Given the description of an element on the screen output the (x, y) to click on. 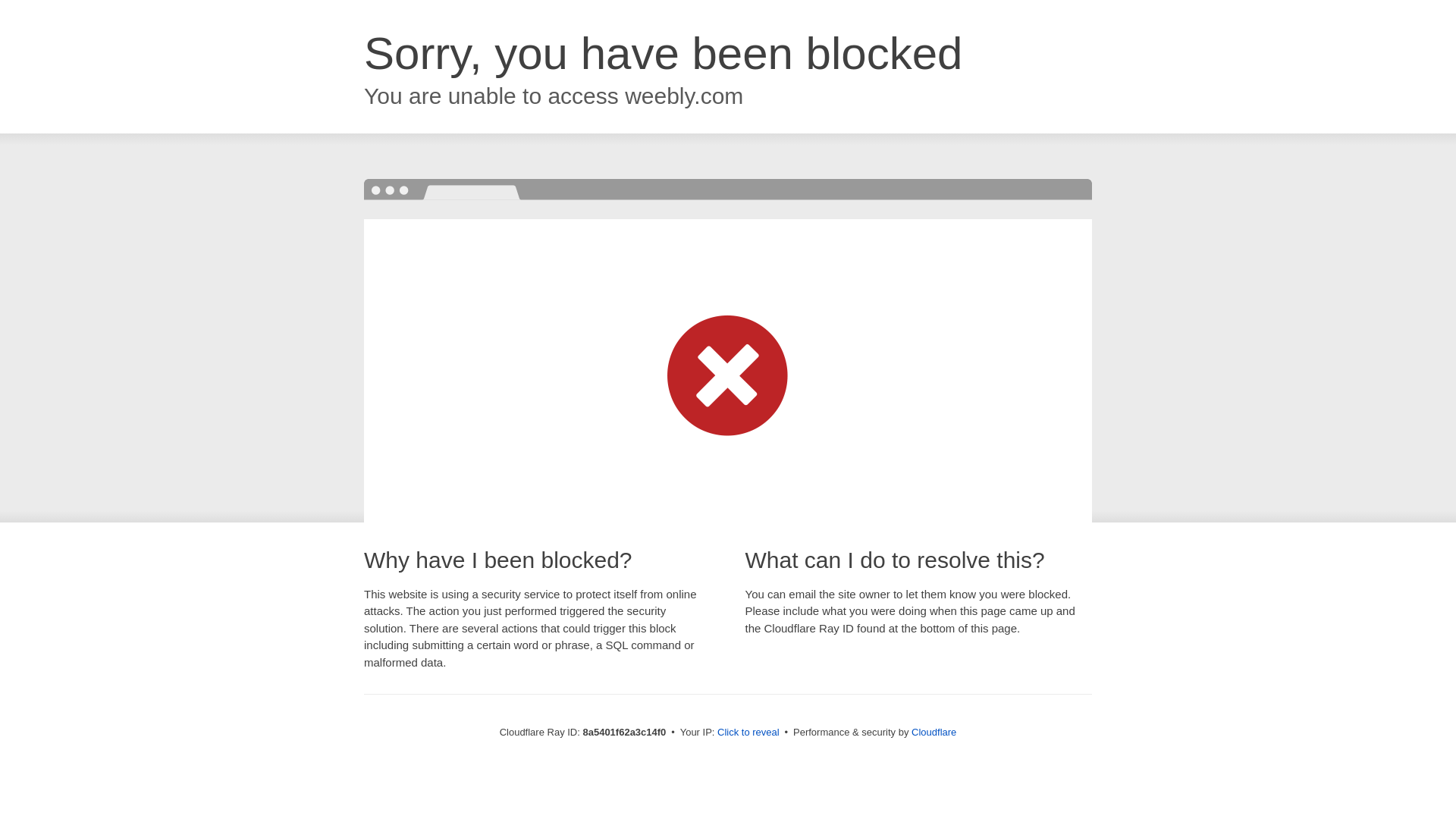
Cloudflare (933, 731)
Click to reveal (747, 732)
